Given the description of an element on the screen output the (x, y) to click on. 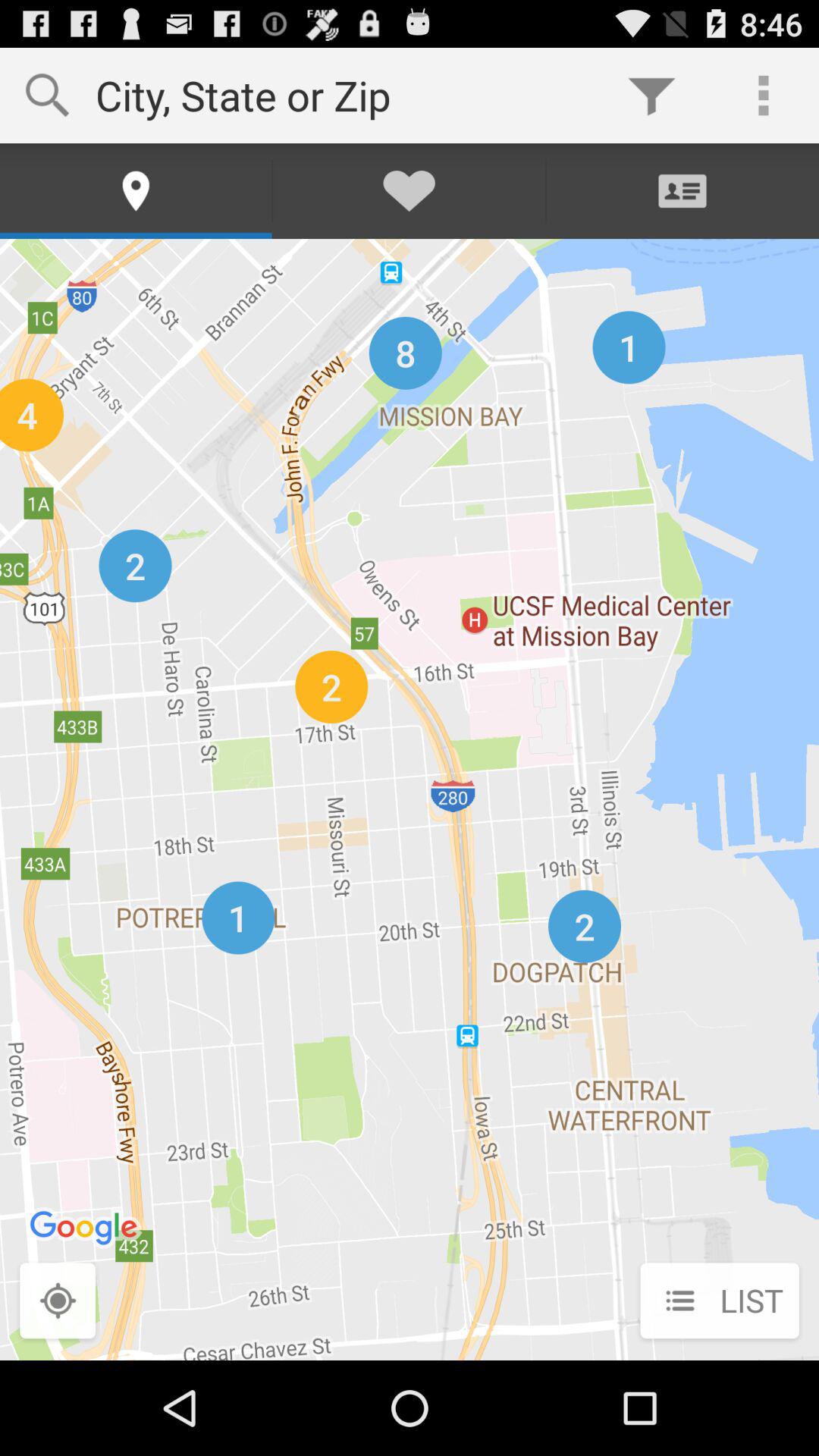
jump until list icon (719, 1302)
